Given the description of an element on the screen output the (x, y) to click on. 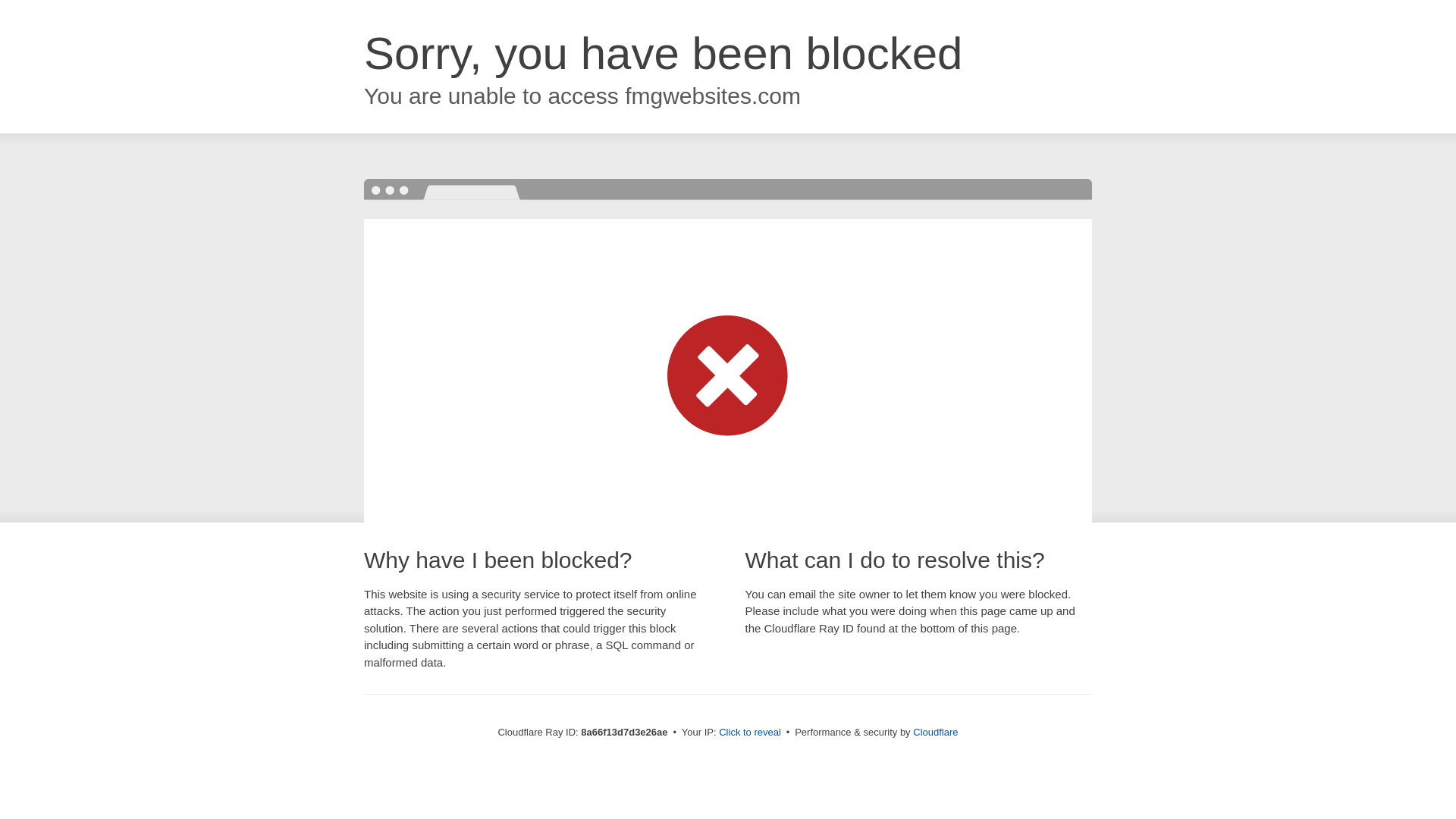
Cloudflare (935, 731)
Click to reveal (749, 732)
